Given the description of an element on the screen output the (x, y) to click on. 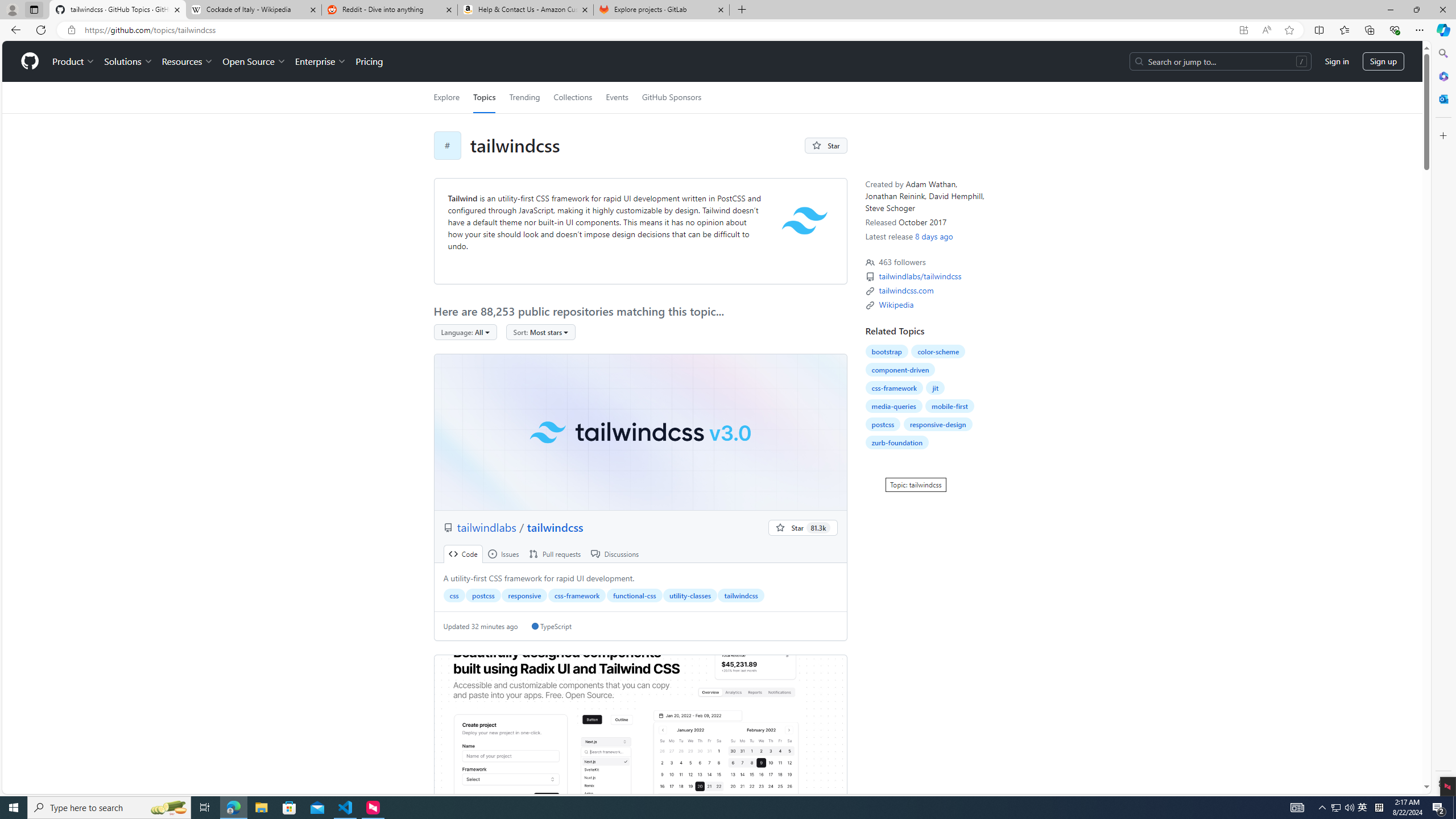
Sort: Most stars (540, 331)
